Given the description of an element on the screen output the (x, y) to click on. 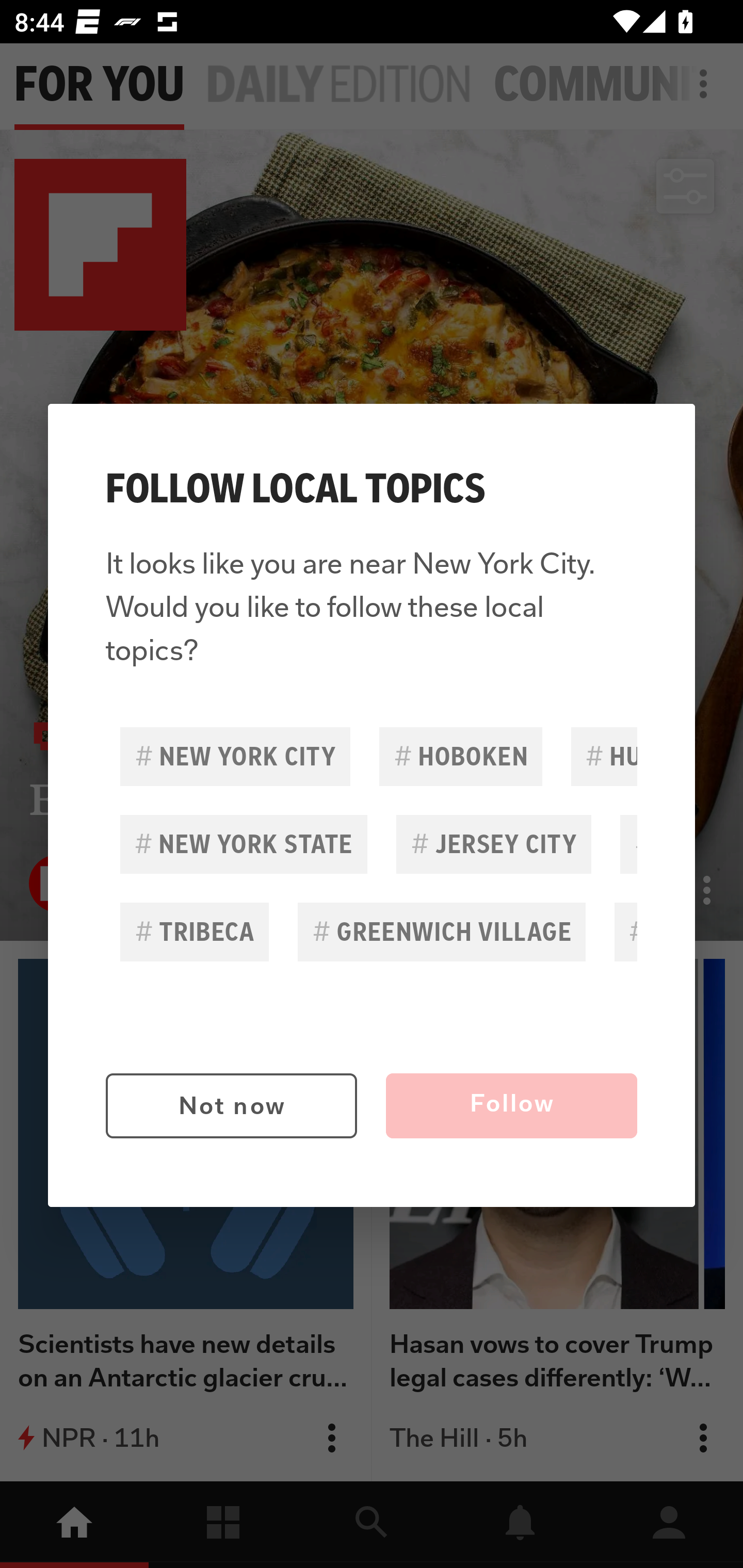
# NEW YORK CITY (235, 756)
# HOBOKEN (460, 756)
# NEW YORK STATE (243, 844)
# JERSEY CITY (493, 844)
# TRIBECA (194, 932)
# GREENWICH VILLAGE (441, 932)
Not now (231, 1106)
Follow (511, 1106)
